Given the description of an element on the screen output the (x, y) to click on. 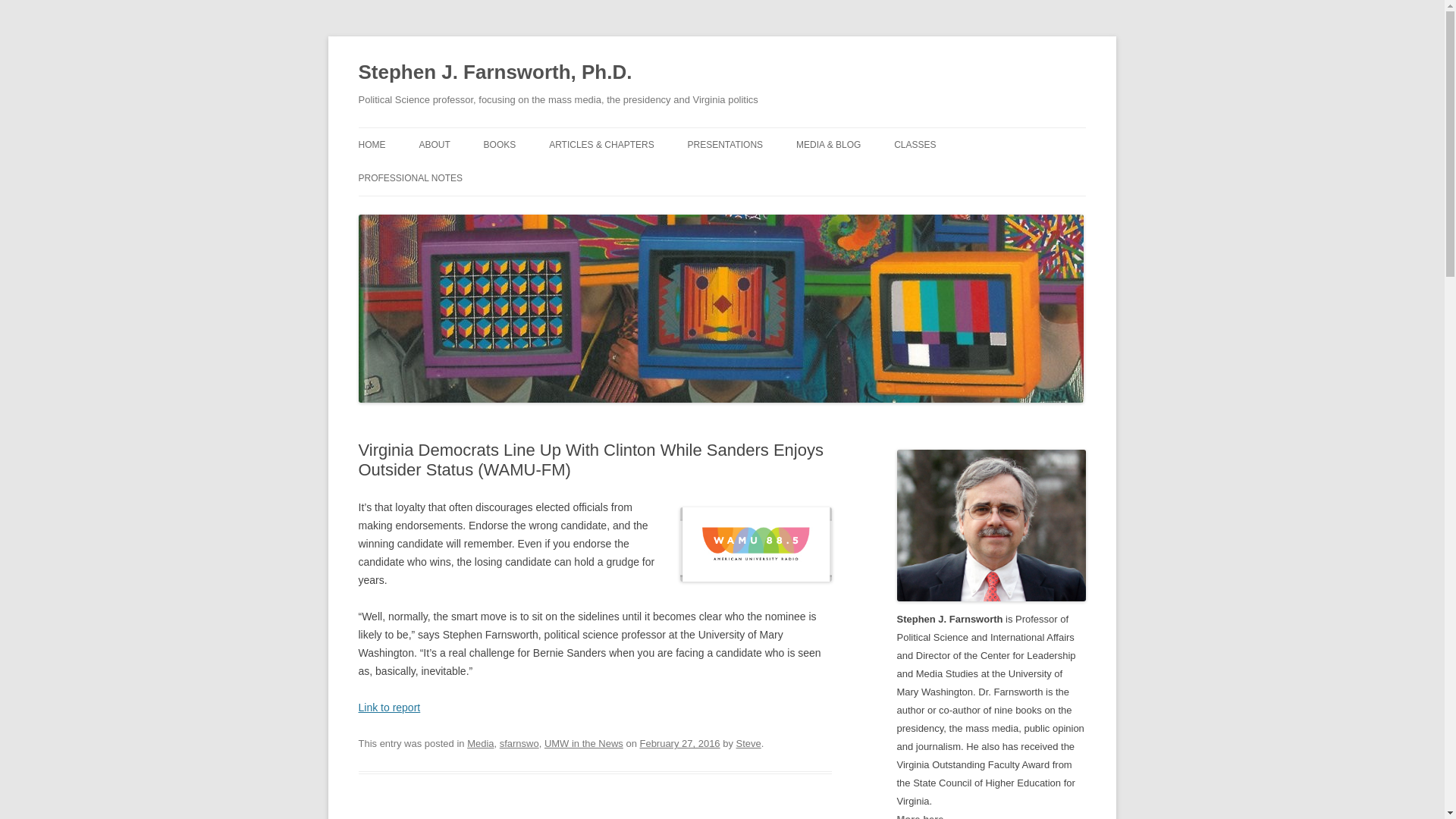
February 27, 2016 (679, 743)
CLASSES (914, 144)
Steve (748, 743)
ABOUT (434, 144)
View all posts by Steve (748, 743)
More here (919, 816)
Link to report (389, 707)
UMW in the News (583, 743)
PRESENTATIONS (724, 144)
Media (480, 743)
10:42 am (679, 743)
BOOKS (499, 144)
sfarnswo (518, 743)
Stephen J. Farnsworth, Ph.D. (494, 72)
